Given the description of an element on the screen output the (x, y) to click on. 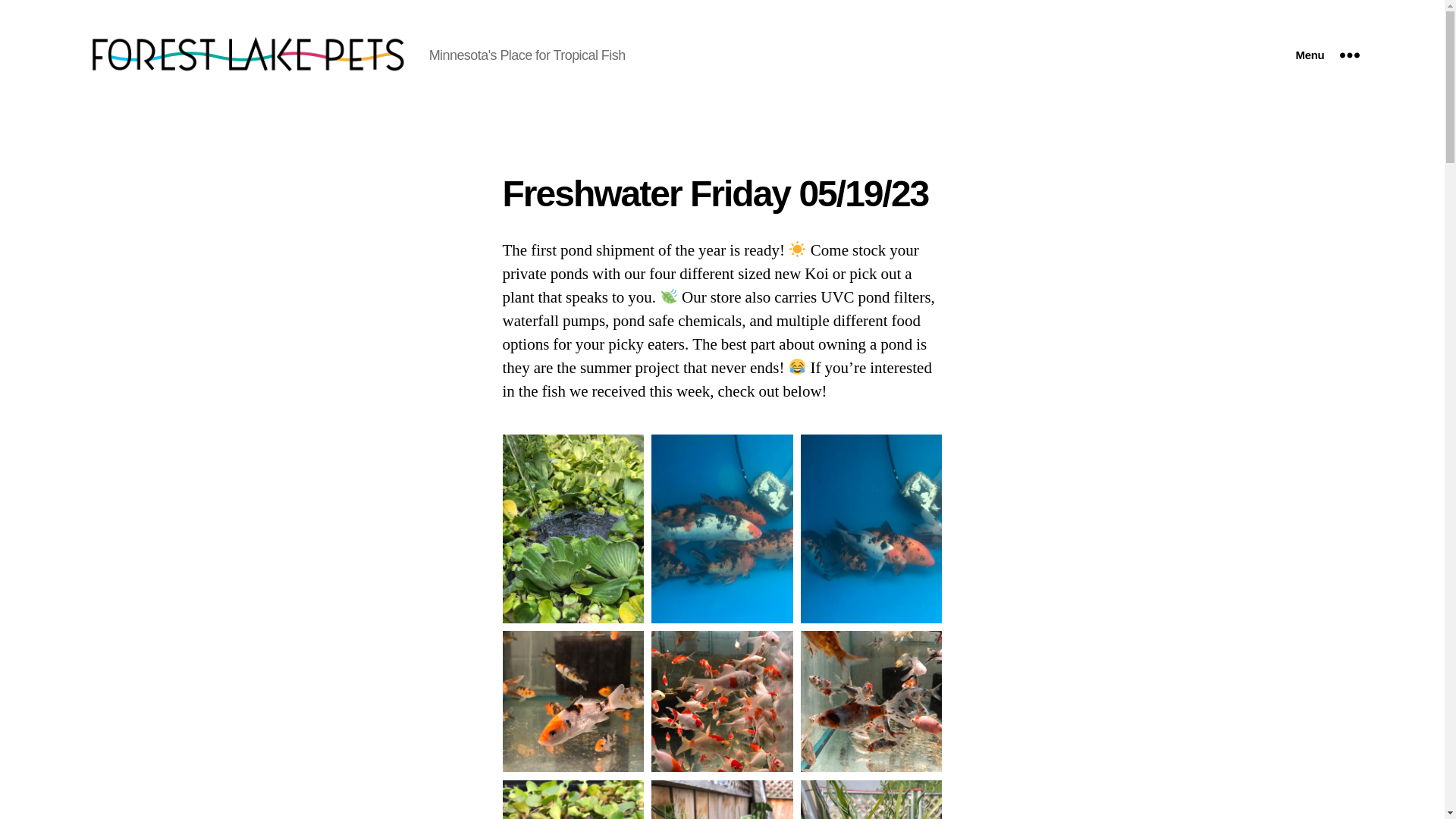
Menu (1327, 55)
